Given the description of an element on the screen output the (x, y) to click on. 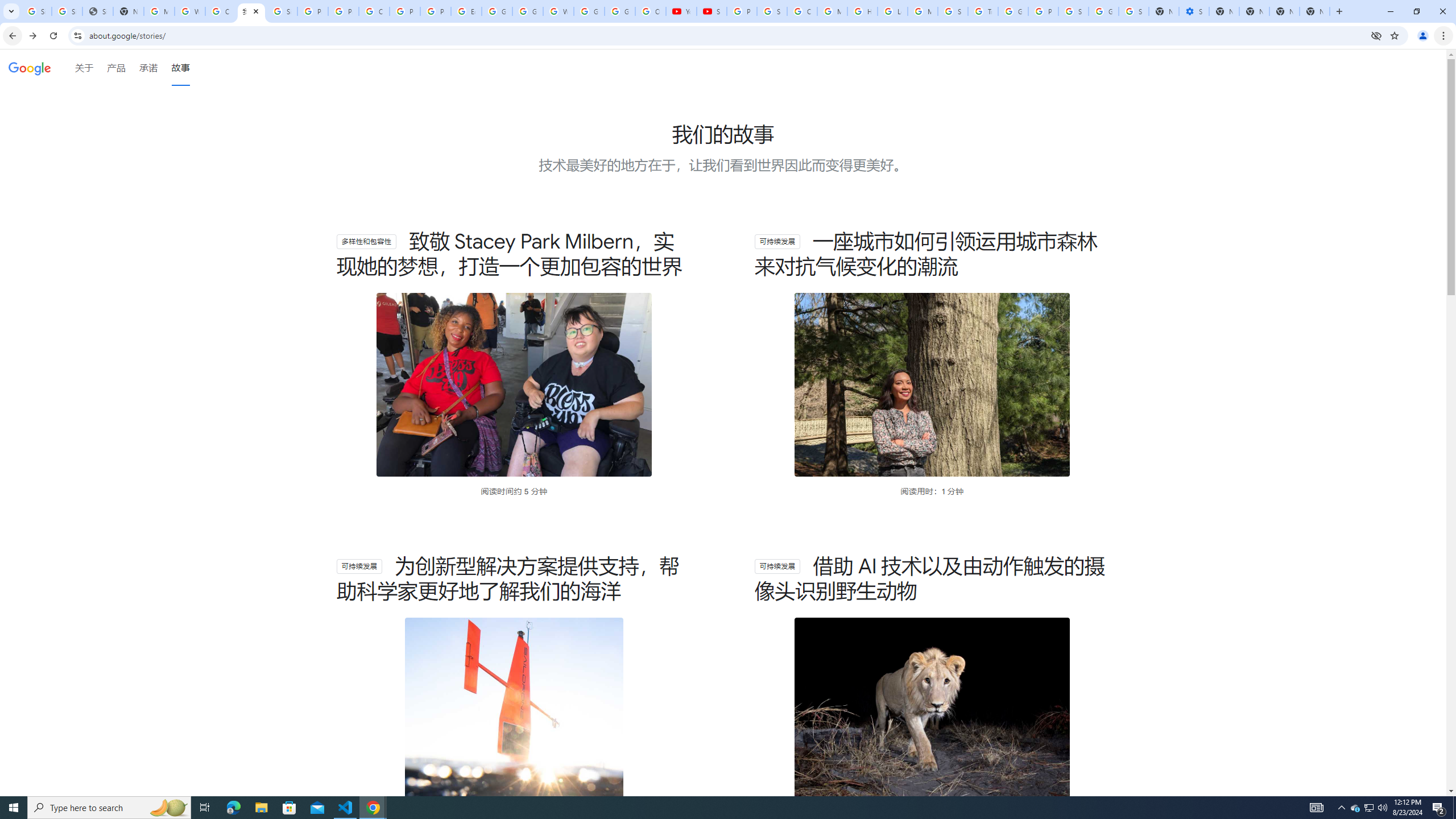
Create your Google Account (373, 11)
Google Slides: Sign-in (496, 11)
Subscriptions - YouTube (711, 11)
Create your Google Account (220, 11)
Sign in - Google Accounts (1072, 11)
Sign in - Google Accounts (1133, 11)
